Given the description of an element on the screen output the (x, y) to click on. 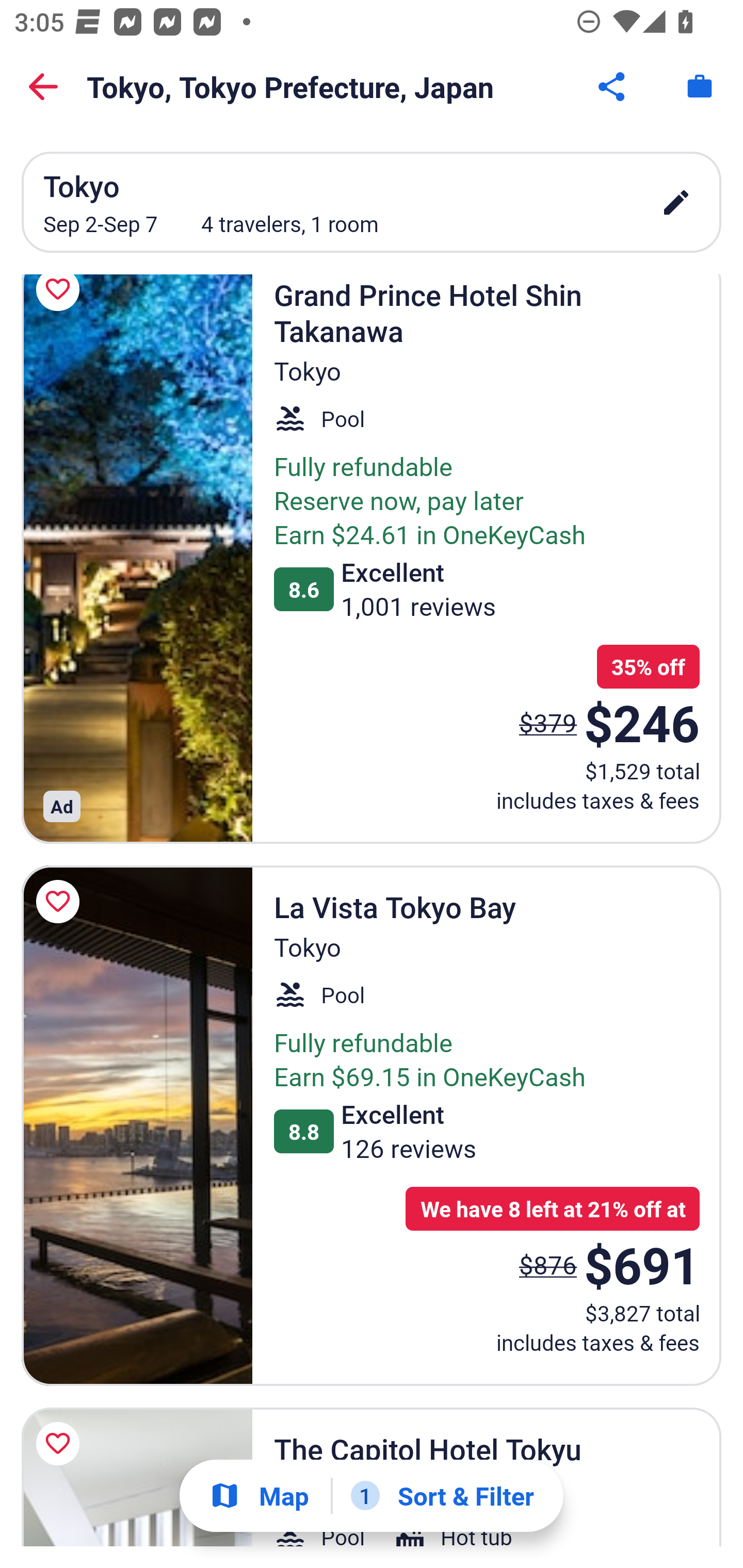
Back (43, 86)
Share Button (612, 86)
Trips. Button (699, 86)
Tokyo Sep 2-Sep 7 4 travelers, 1 room edit (371, 202)
Grand Prince Hotel Shin Takanawa (136, 558)
Save Grand Prince Hotel Shin Takanawa to a trip (61, 303)
$379 The price was $379 (547, 721)
Save La Vista Tokyo Bay to a trip (61, 901)
La Vista Tokyo Bay (136, 1125)
$876 The price was $876 (547, 1264)
Save The Capitol Hotel Tokyu to a trip (61, 1443)
1 Sort & Filter 1 Filter applied. Filters Button (442, 1495)
Show map Map Show map Button (258, 1495)
